Given the description of an element on the screen output the (x, y) to click on. 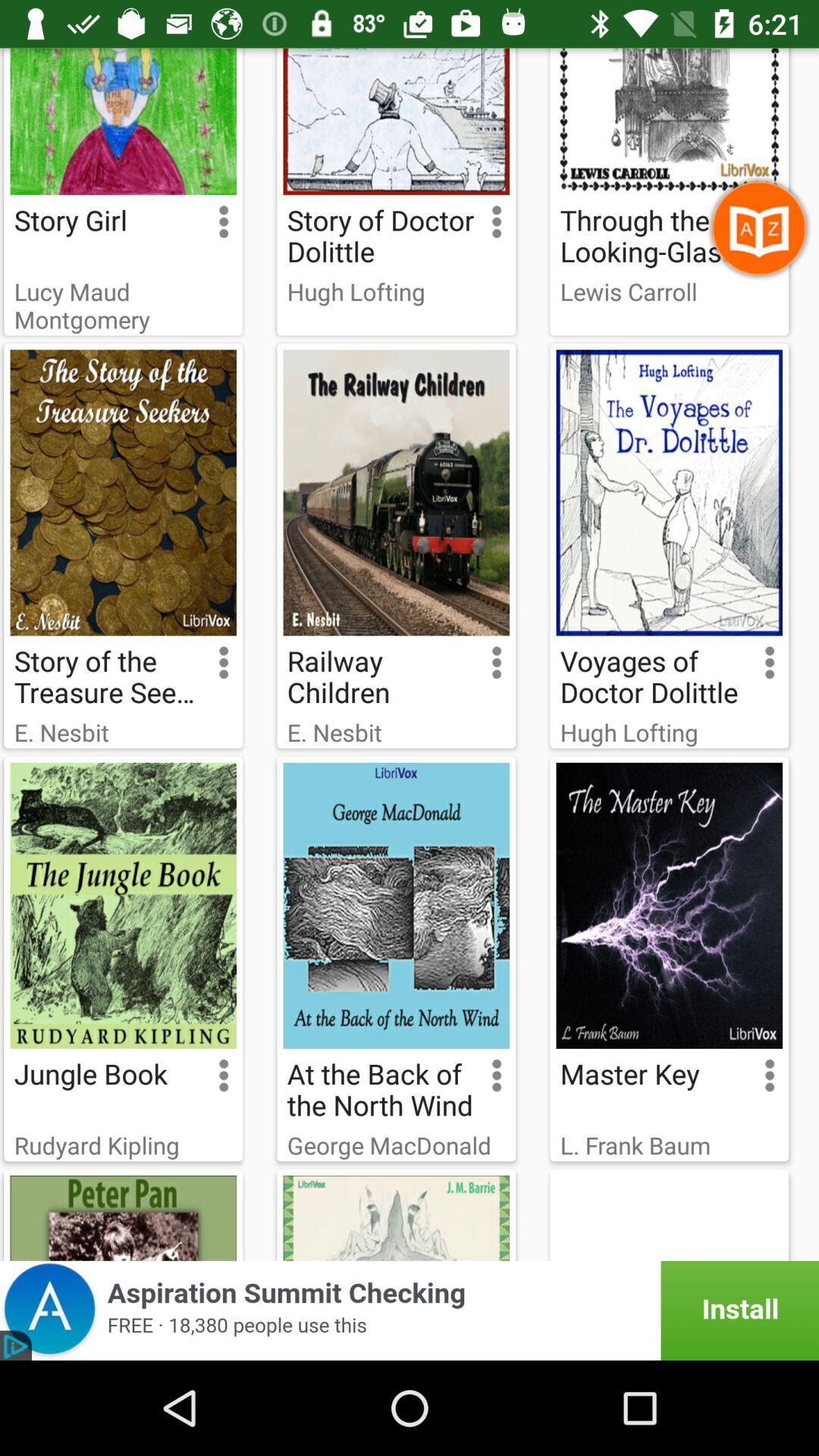
select the 2nd image from the 3rd row (395, 905)
select the image in the first option of fourth row (123, 1214)
click on the option button which is righht hand side of railway children (465, 671)
